Given the description of an element on the screen output the (x, y) to click on. 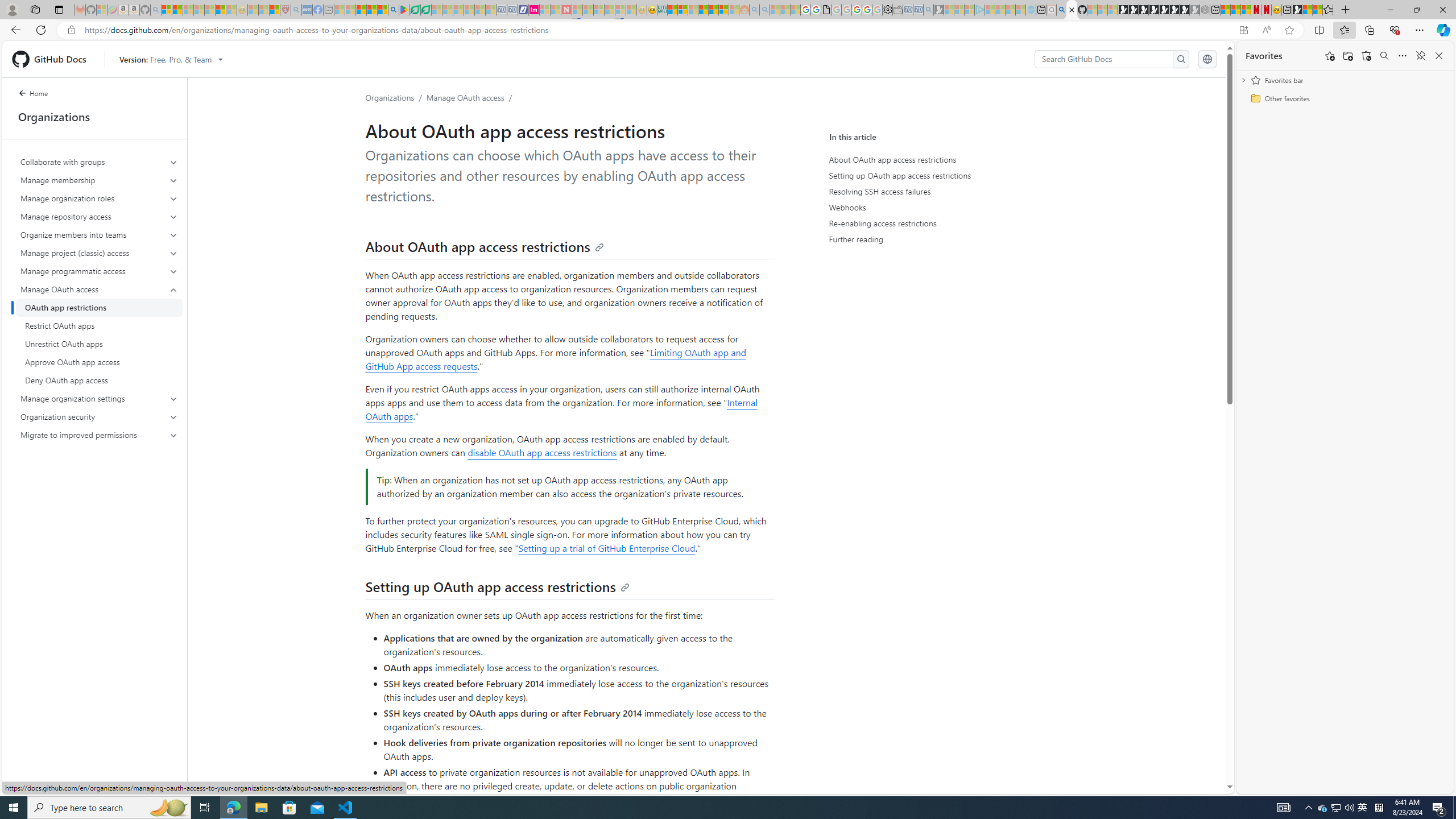
disable OAuth app access restrictions (542, 452)
OAuth app restrictions (99, 307)
Search GitHub Docs (1104, 58)
Organize members into teams (99, 235)
